Given the description of an element on the screen output the (x, y) to click on. 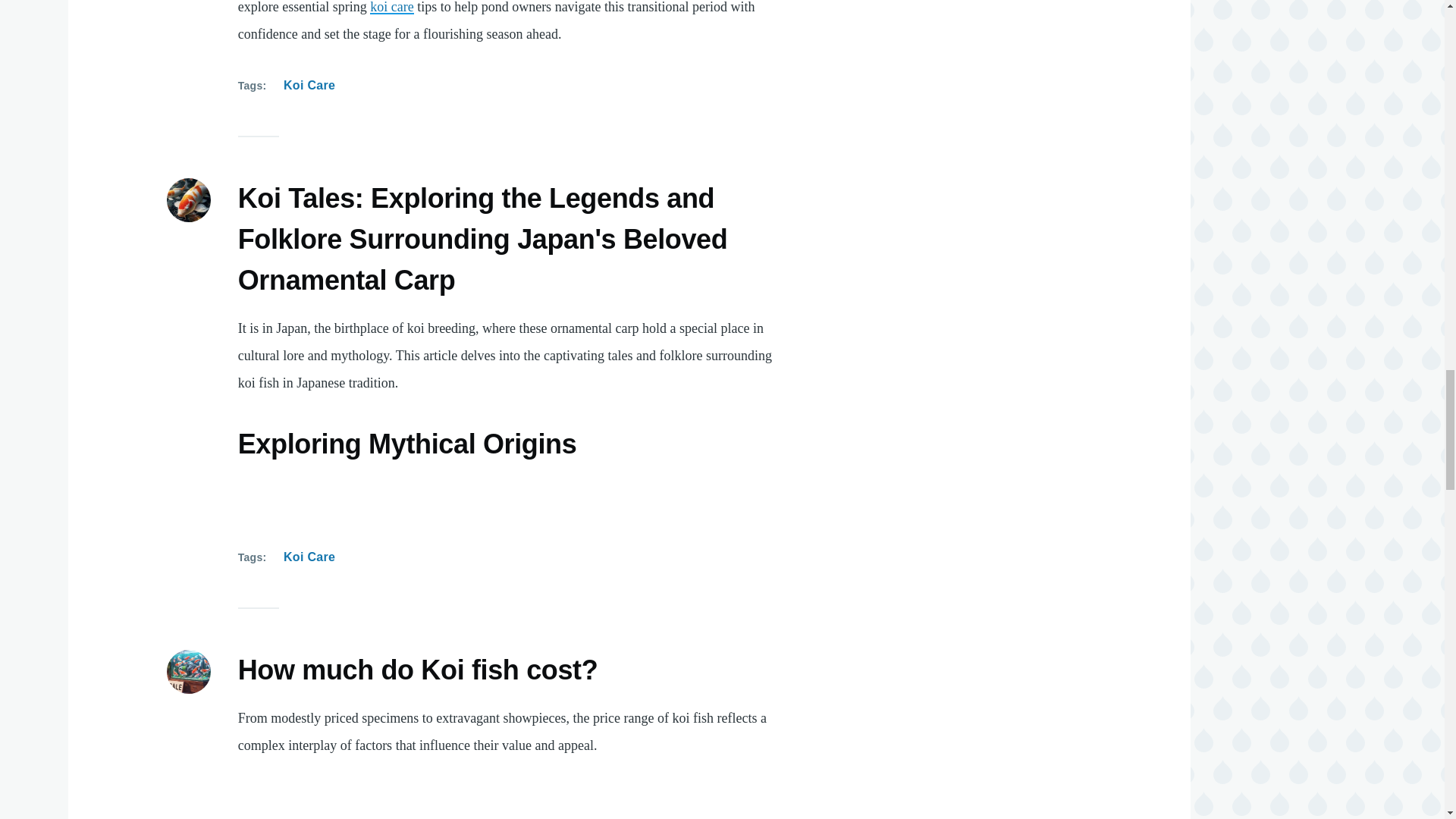
Koi Care (308, 85)
koi care (391, 7)
Koi Care (308, 557)
